Given the description of an element on the screen output the (x, y) to click on. 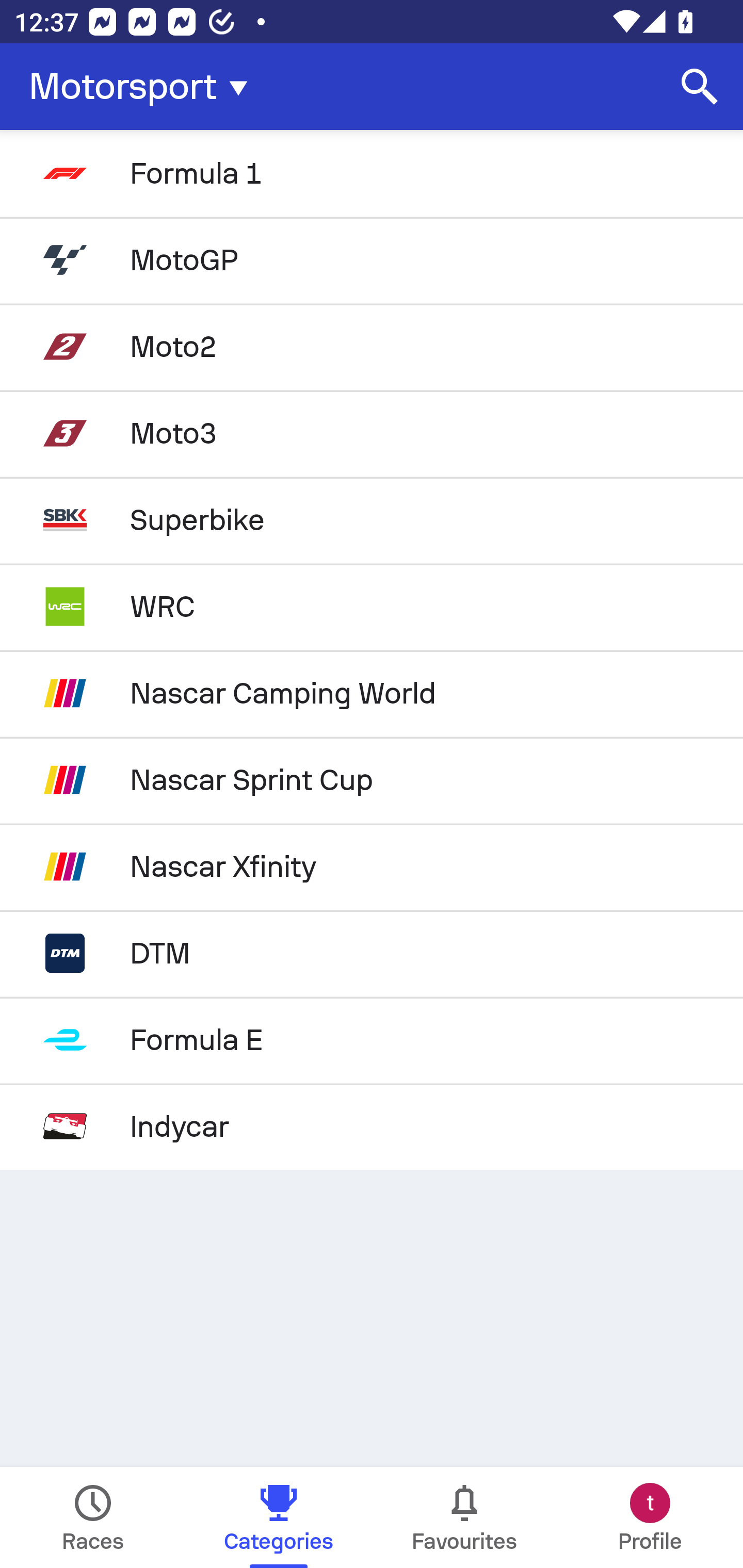
Motorsport (144, 86)
Search (699, 86)
Formula 1 (371, 173)
MotoGP (371, 259)
Moto2 (371, 346)
Moto3 (371, 433)
Superbike (371, 519)
WRC (371, 605)
Nascar Camping World (371, 692)
Nascar Sprint Cup (371, 779)
Nascar Xfinity (371, 866)
DTM (371, 953)
Formula E (371, 1040)
Indycar (371, 1126)
Races (92, 1517)
Favourites (464, 1517)
Profile (650, 1517)
